Given the description of an element on the screen output the (x, y) to click on. 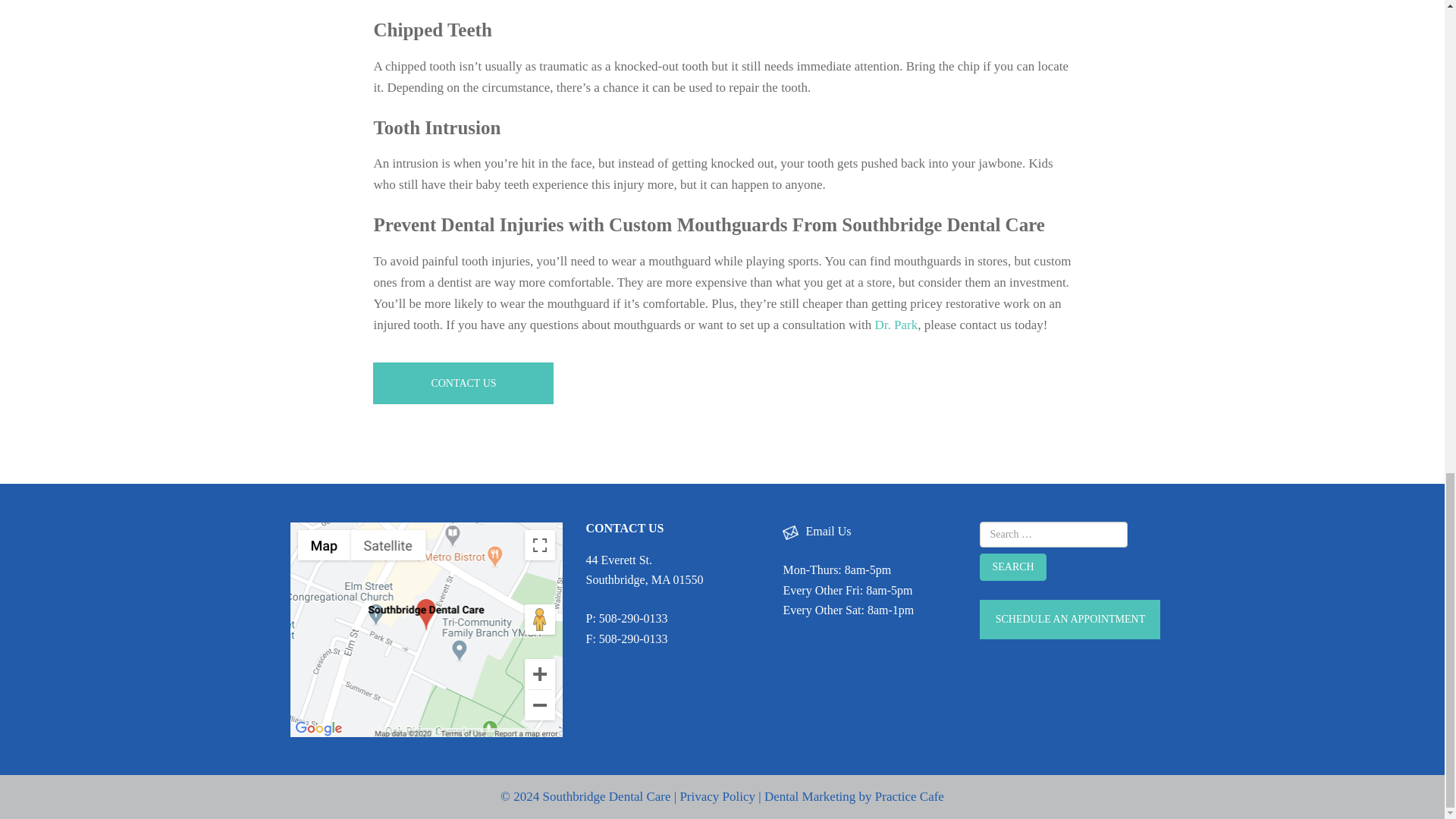
Search (1012, 566)
Search (1012, 566)
